Given the description of an element on the screen output the (x, y) to click on. 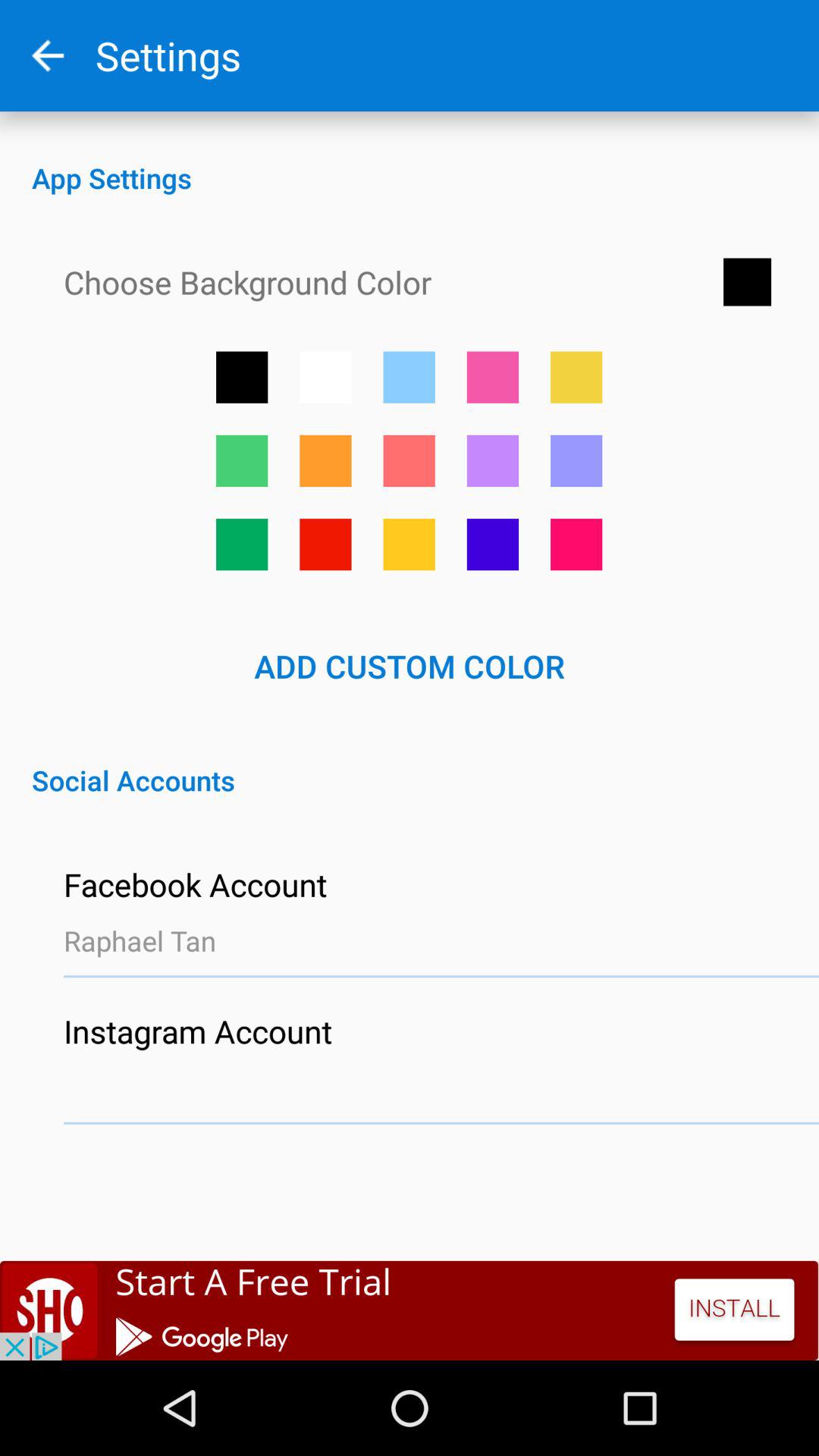
choose orange color (409, 544)
